Given the description of an element on the screen output the (x, y) to click on. 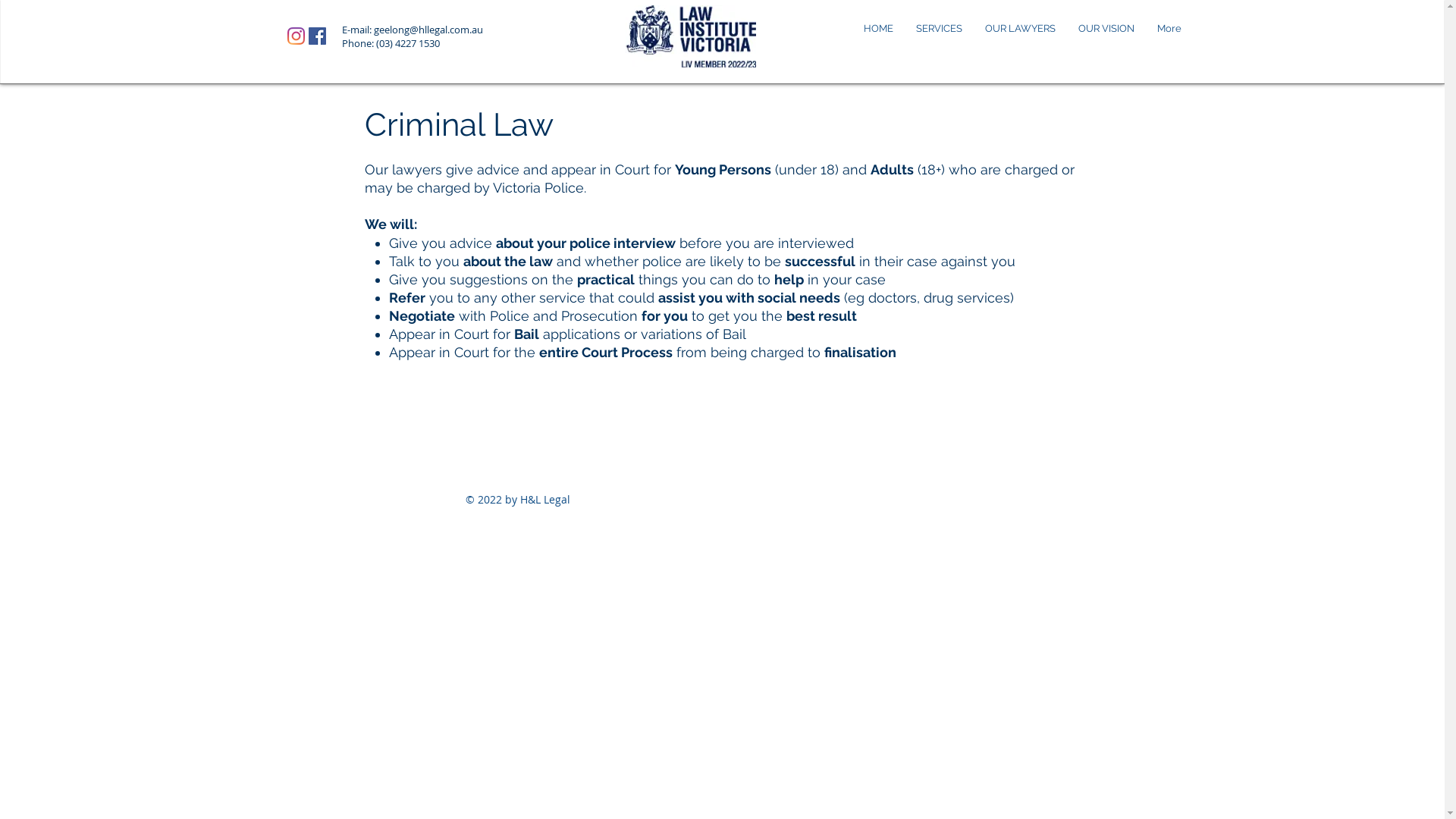
OUR VISION Element type: text (1105, 28)
HOME Element type: text (878, 28)
SERVICES Element type: text (937, 28)
geelong@hllegal.com.au Element type: text (427, 29)
OUR LAWYERS Element type: text (1019, 28)
